Given the description of an element on the screen output the (x, y) to click on. 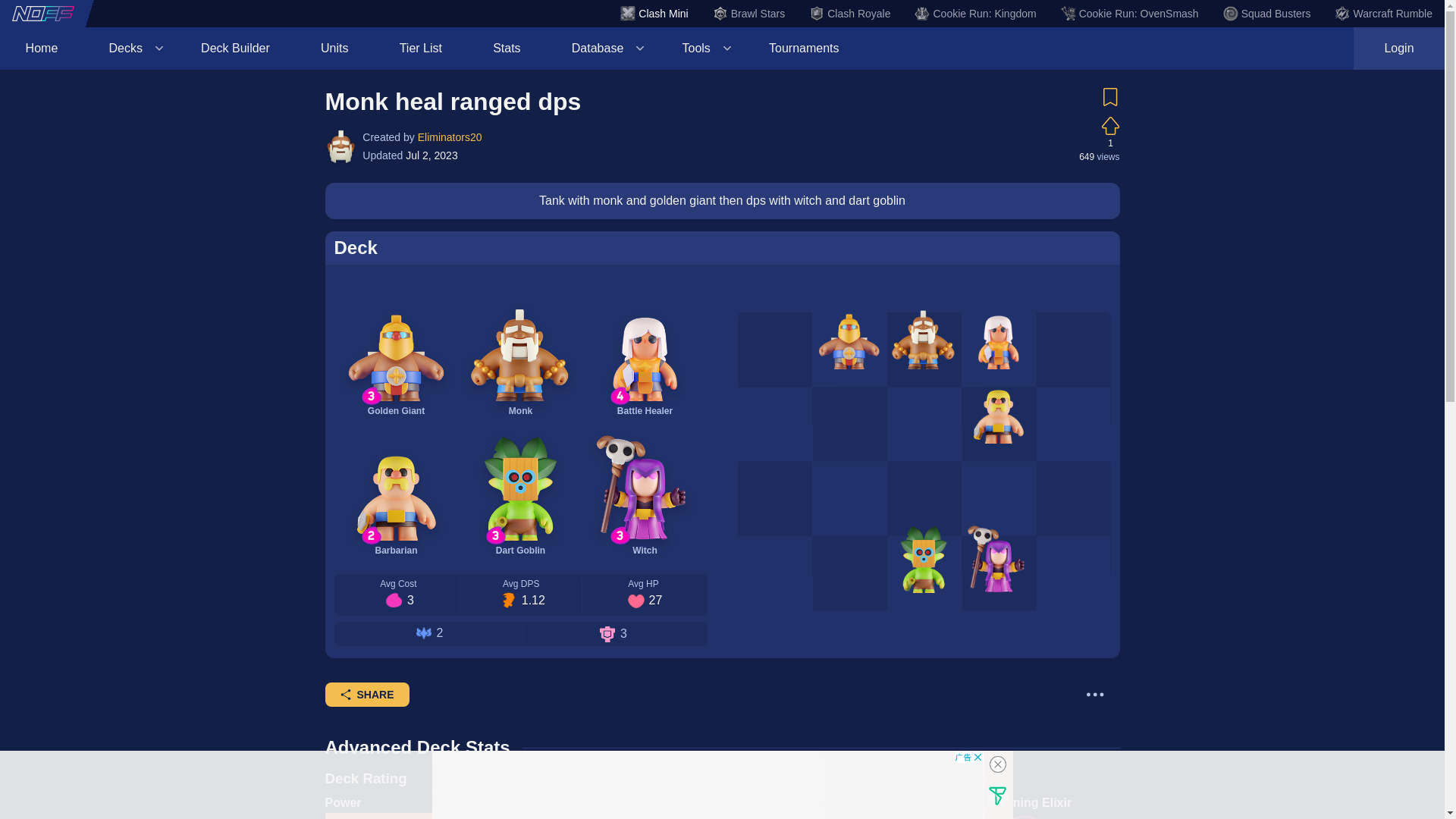
Clash Mini (653, 13)
Tournaments (803, 48)
Squad Busters (1267, 13)
Warcraft Rumble (1383, 13)
Tier List (420, 48)
Deck Builder (235, 48)
Home (41, 48)
Cookie Run: Kingdom (974, 13)
Stats (507, 48)
Tools (700, 48)
Units (334, 48)
Database (601, 48)
3rd party ad content (708, 785)
Decks (129, 48)
Clash Royale (849, 13)
